Given the description of an element on the screen output the (x, y) to click on. 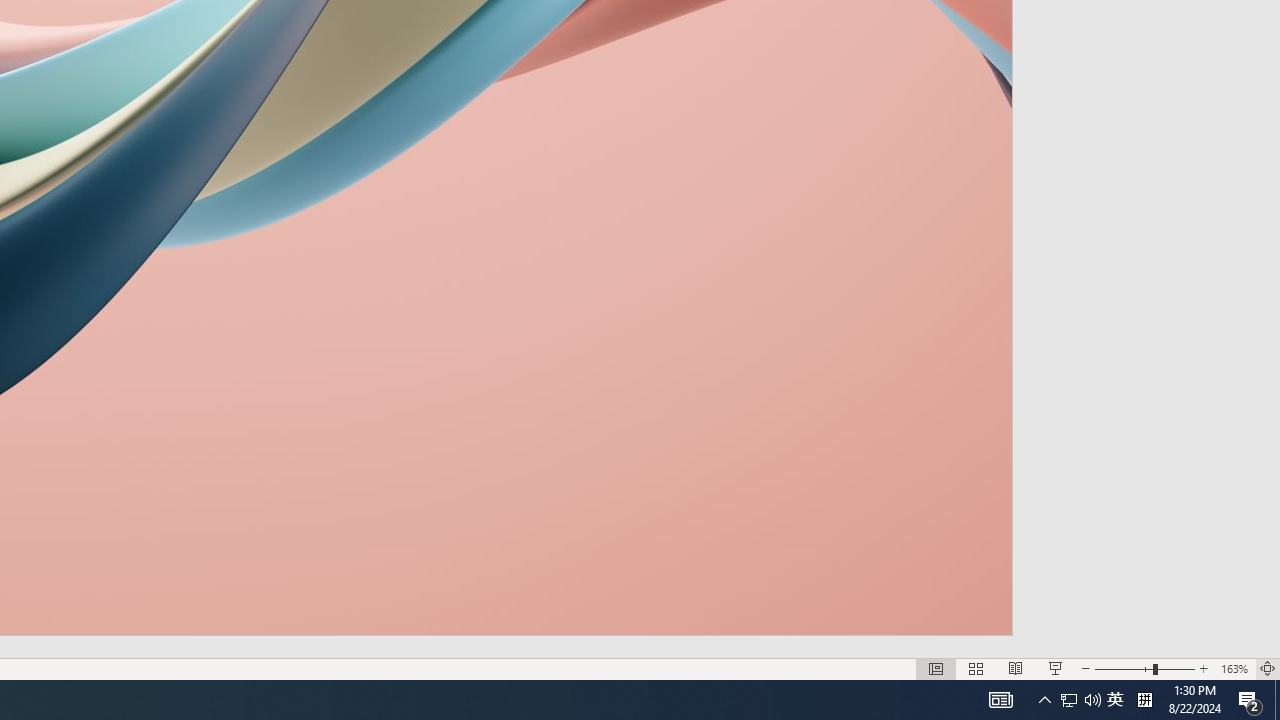
Zoom 163% (1234, 668)
